Given the description of an element on the screen output the (x, y) to click on. 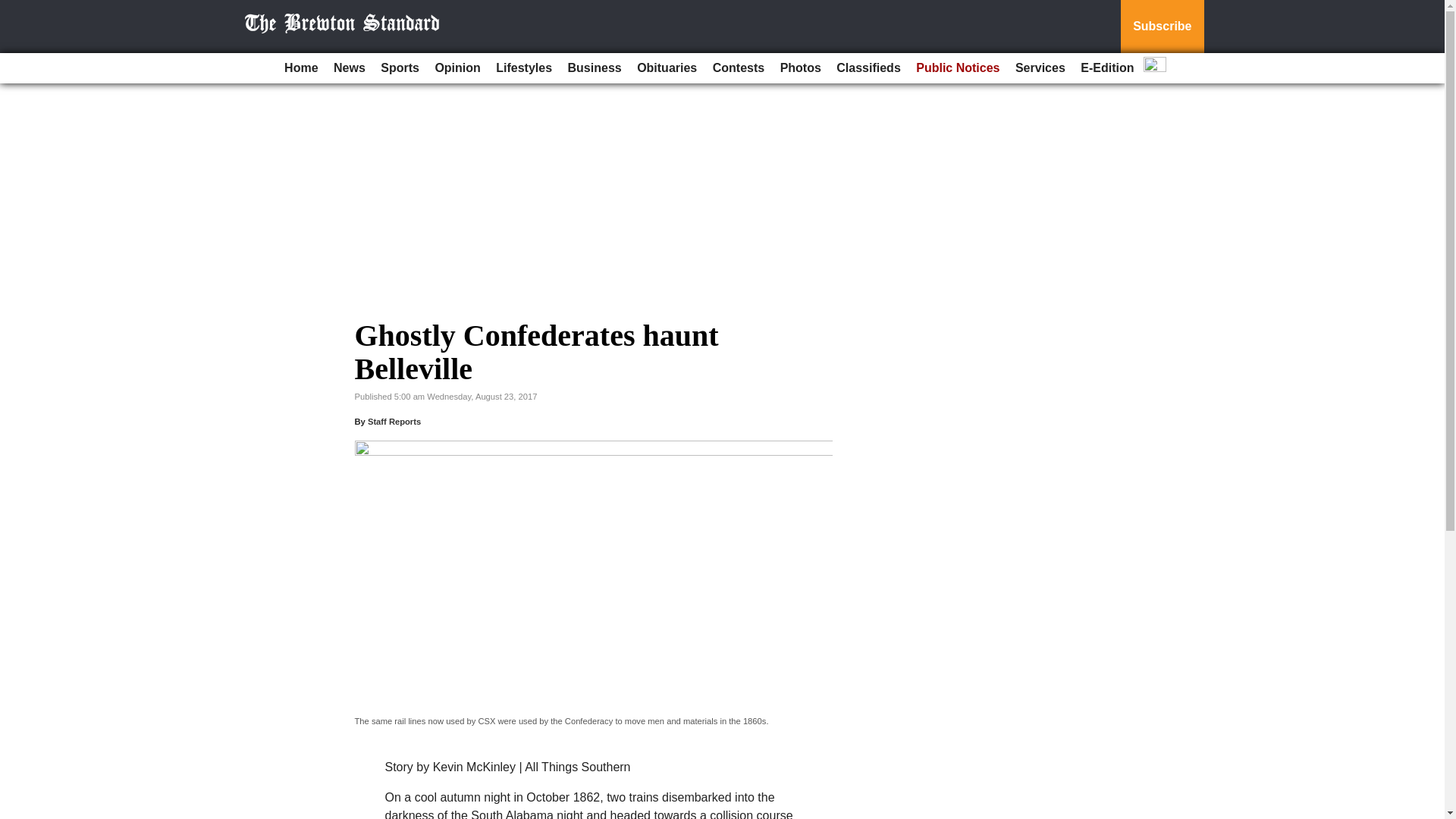
Contests (738, 68)
Home (300, 68)
Classifieds (867, 68)
Business (594, 68)
Services (1040, 68)
Obituaries (666, 68)
E-Edition (1107, 68)
Subscribe (1162, 26)
Public Notices (958, 68)
Staff Reports (394, 420)
